Given the description of an element on the screen output the (x, y) to click on. 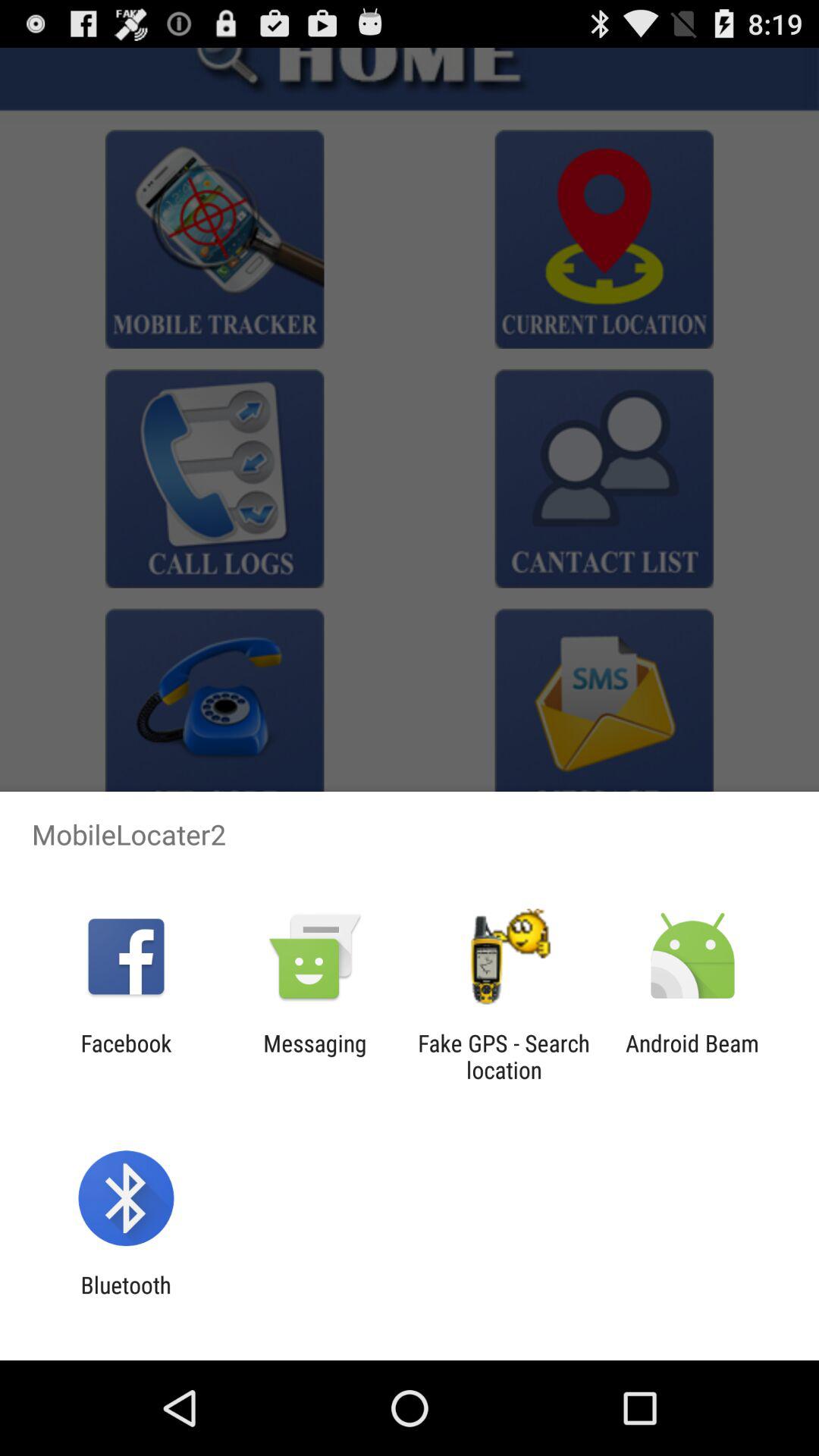
press the bluetooth (125, 1298)
